Given the description of an element on the screen output the (x, y) to click on. 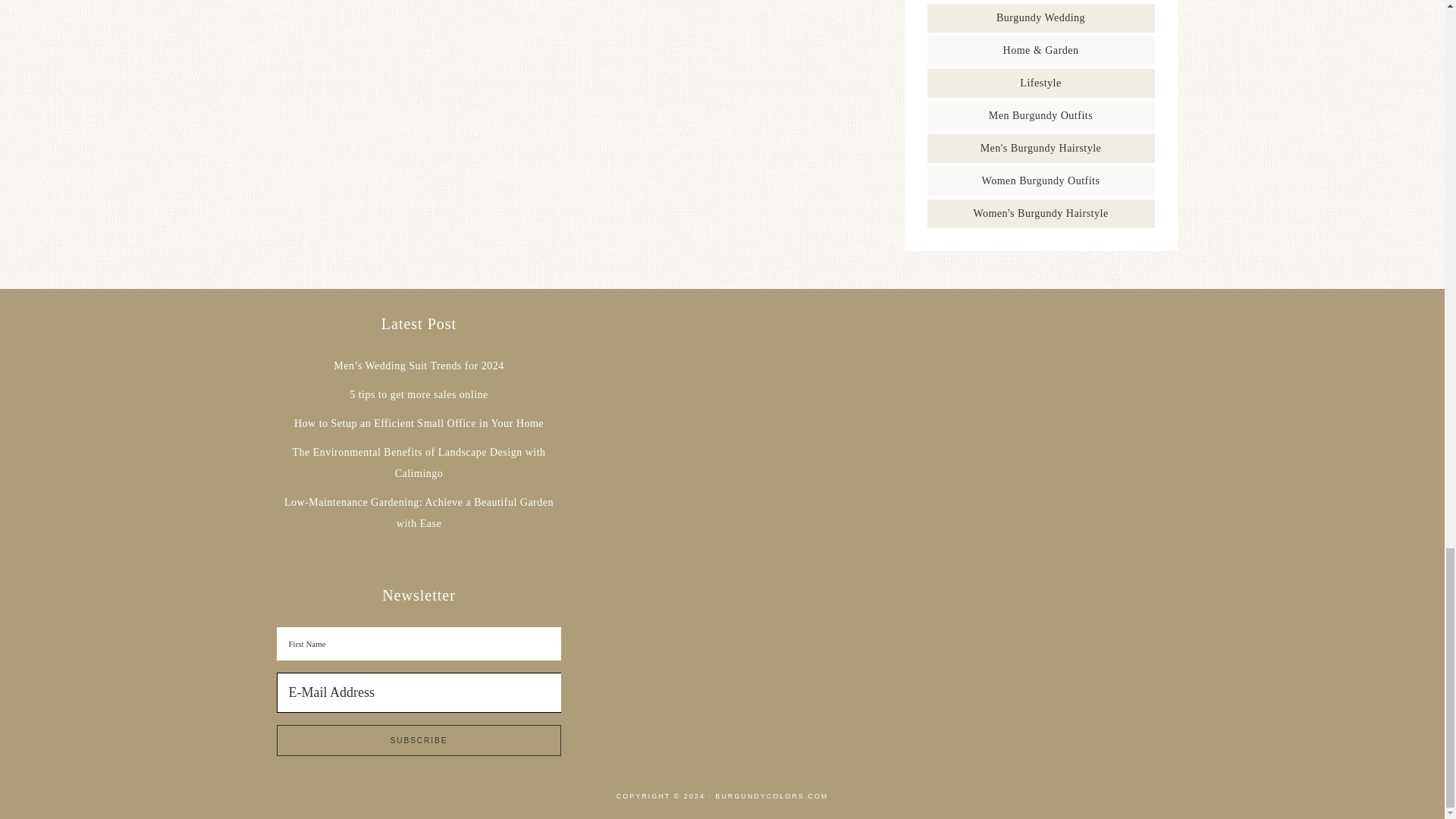
Lifestyle (1040, 82)
Women's Burgundy Hairstyle (1040, 213)
Burgundy Wedding (1039, 17)
Men's Burgundy Hairstyle (1040, 147)
Women Burgundy Outfits (1040, 180)
Men Burgundy Outfits (1040, 115)
Subscribe (418, 739)
